Given the description of an element on the screen output the (x, y) to click on. 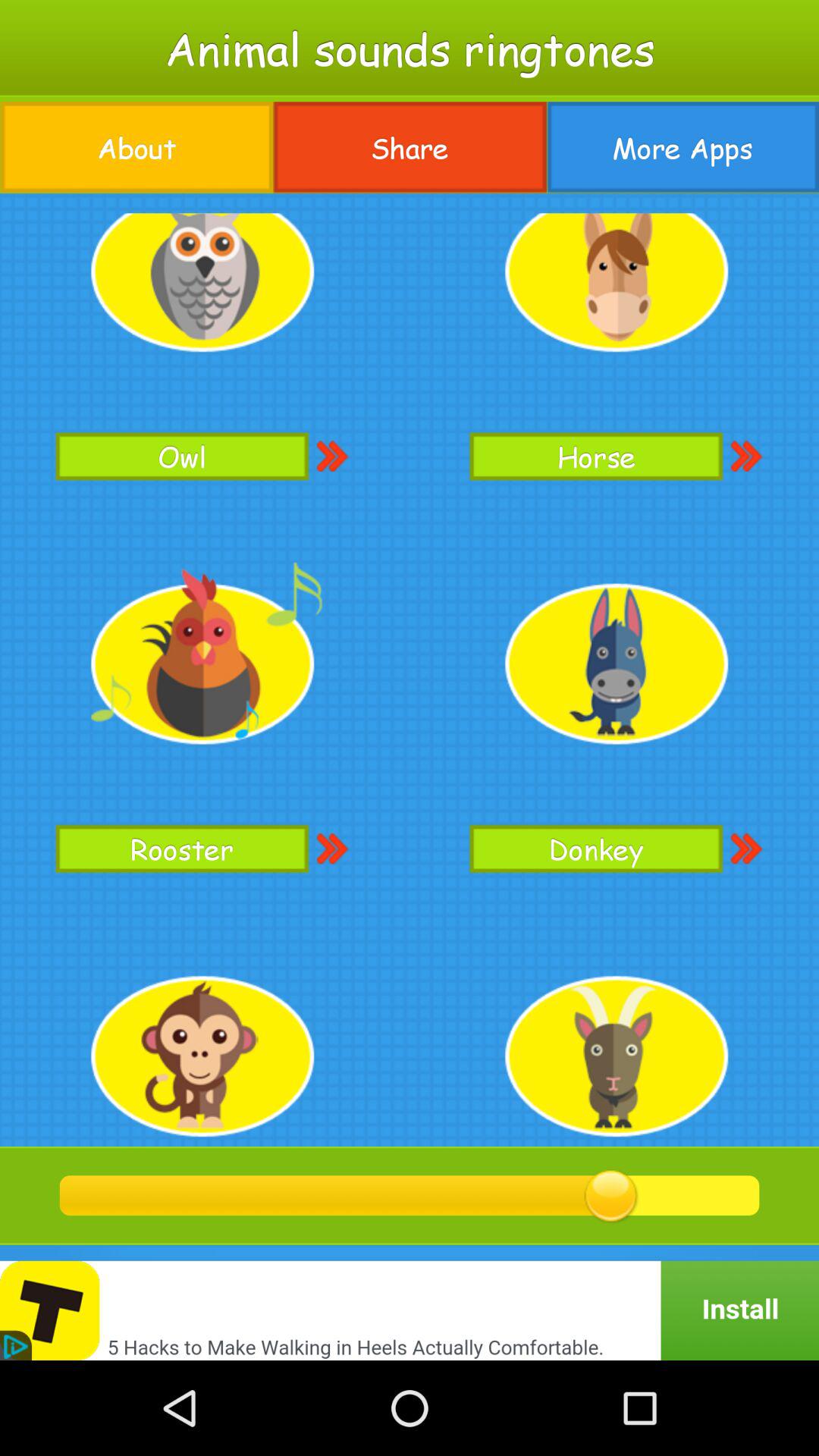
jump until share button (409, 147)
